Given the description of an element on the screen output the (x, y) to click on. 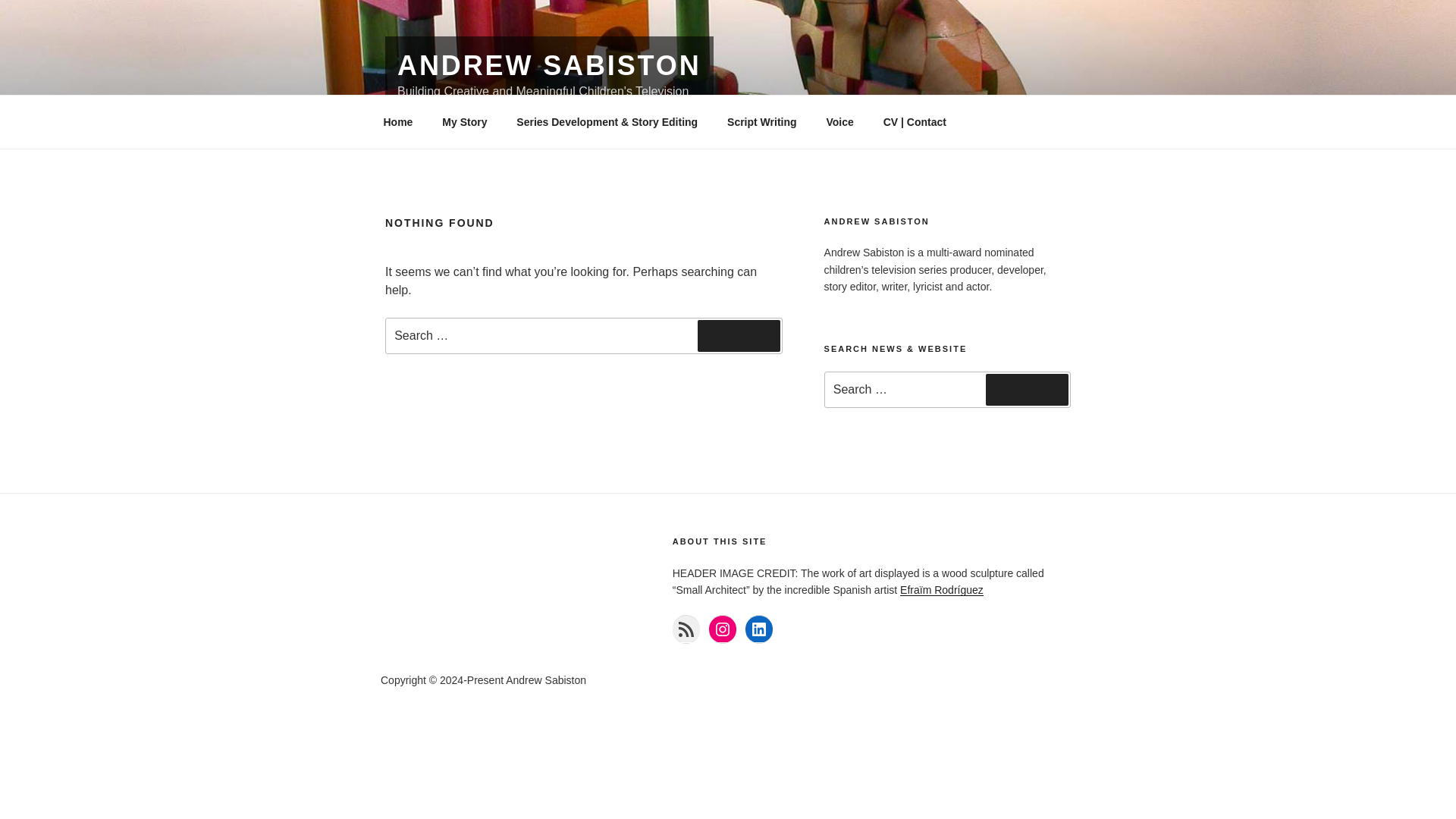
Script Writing (762, 121)
LinkedIn (759, 628)
ANDREW SABISTON (549, 65)
Home (397, 121)
Search (1026, 389)
Instagram (722, 628)
Search (738, 336)
Voice (839, 121)
My Story (464, 121)
RSS Feed (686, 628)
